Given the description of an element on the screen output the (x, y) to click on. 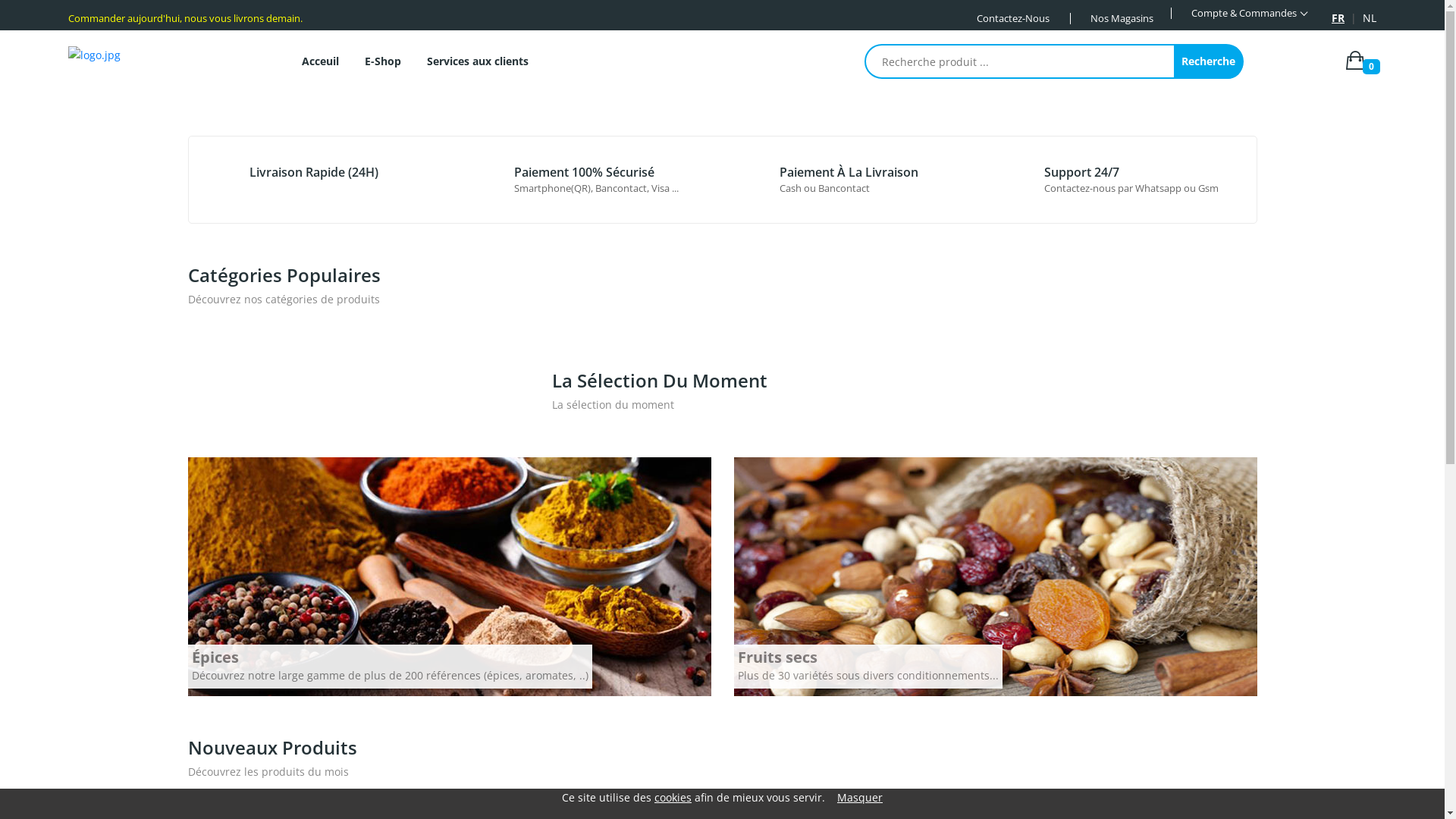
cookies Element type: text (672, 797)
Acceuil Element type: text (319, 61)
E-Shop Element type: text (382, 61)
Services aux clients Element type: text (477, 61)
Contactez-Nous Element type: text (1012, 18)
Recherche Element type: text (1207, 60)
Nos Magasins Element type: text (1121, 18)
Masquer Element type: text (859, 797)
